Given the description of an element on the screen output the (x, y) to click on. 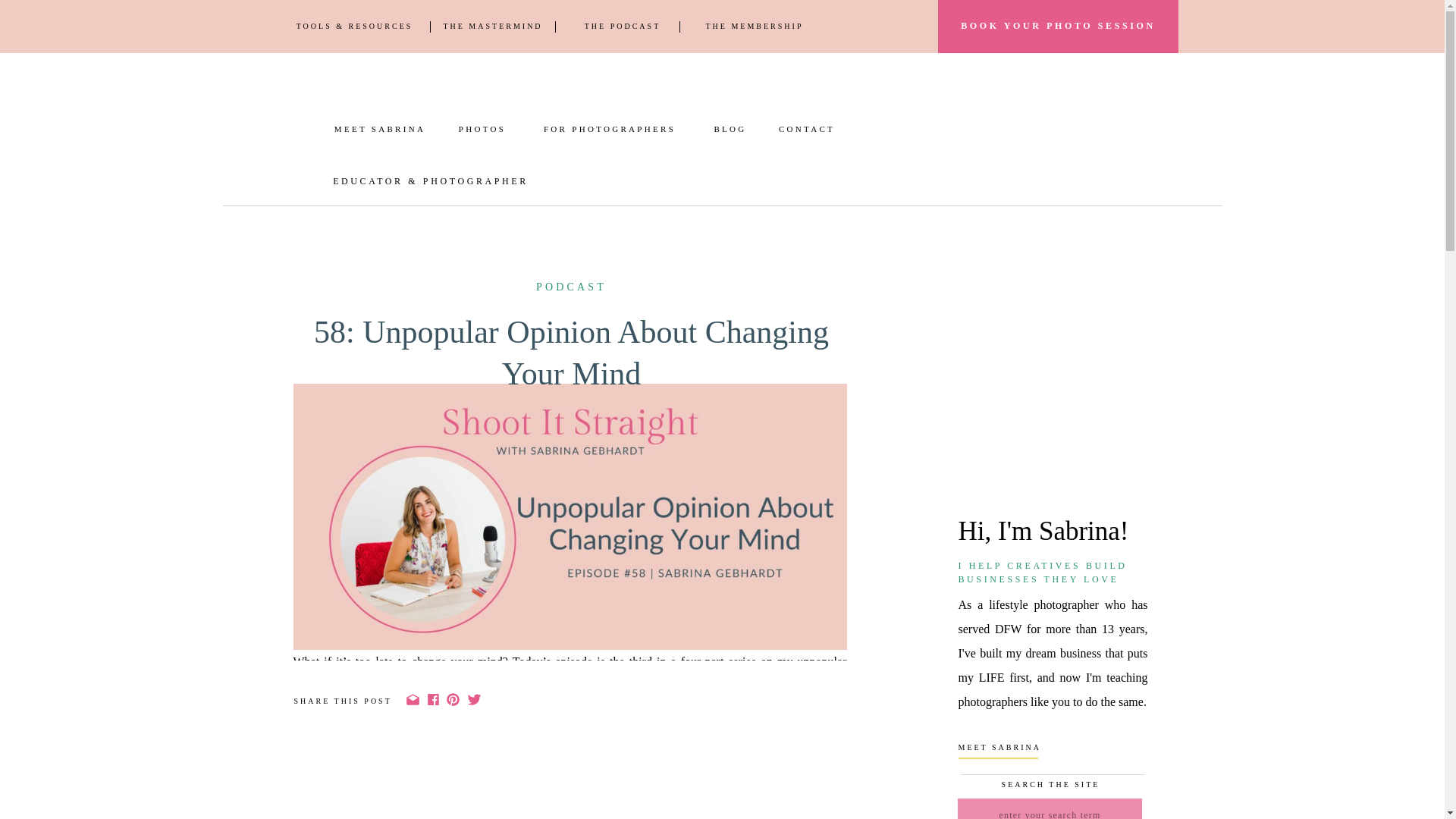
FOR PHOTOGRAPHERS (608, 128)
THE PODCAST (621, 26)
MEET SABRINA (379, 128)
PODCAST (571, 286)
MEET SABRINA (1046, 753)
THE MEMBERSHIP (754, 26)
BLOG (730, 128)
BOOK YOUR PHOTO SESSION (1058, 26)
THE MASTERMIND (491, 26)
CONTACT (807, 128)
PHOTOS (482, 128)
